Given the description of an element on the screen output the (x, y) to click on. 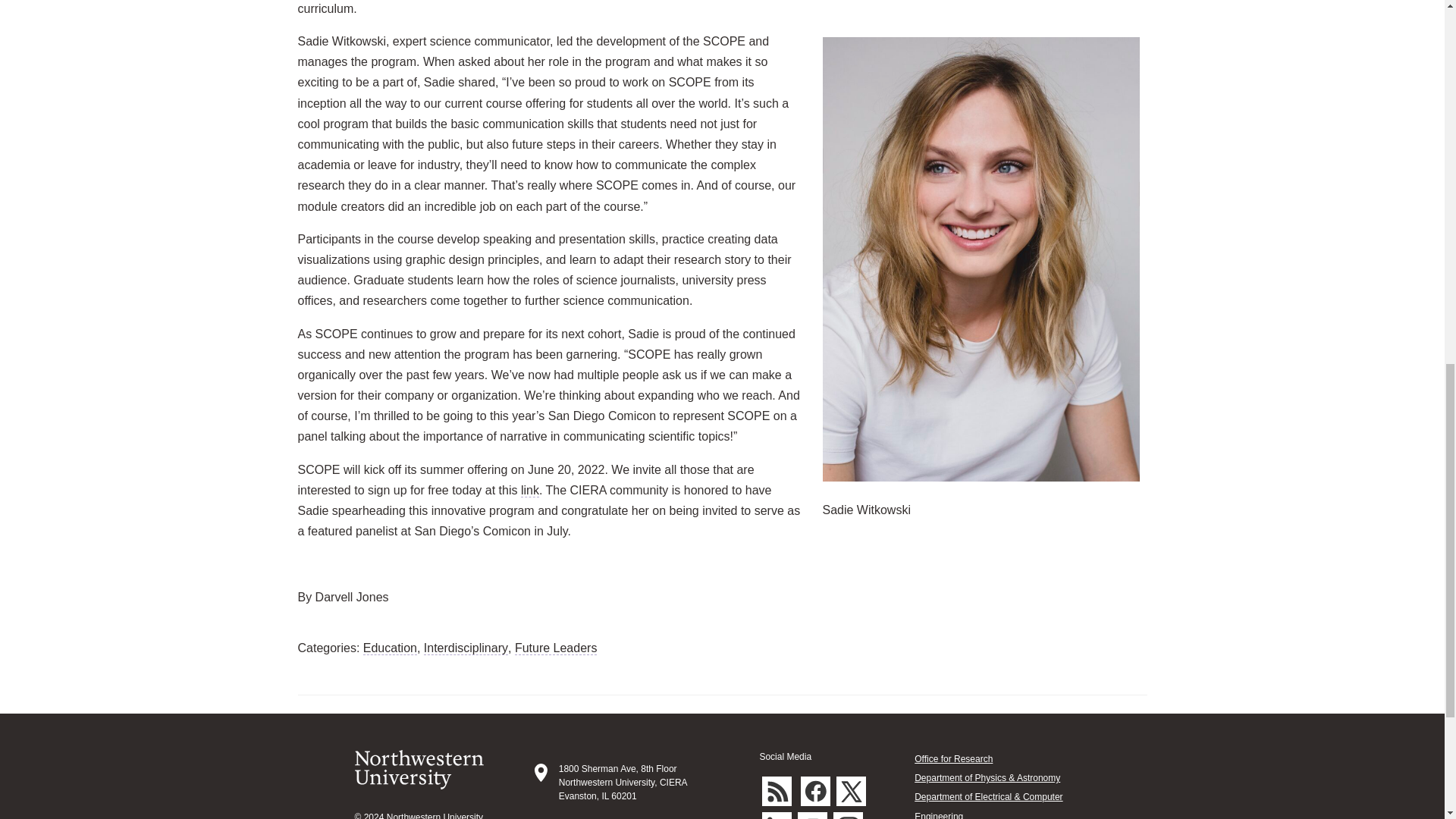
Instagram (847, 815)
Twitter (850, 790)
Facebook (814, 790)
YouTube (812, 815)
rss feed (776, 790)
LinkedIn (776, 815)
